Given the description of an element on the screen output the (x, y) to click on. 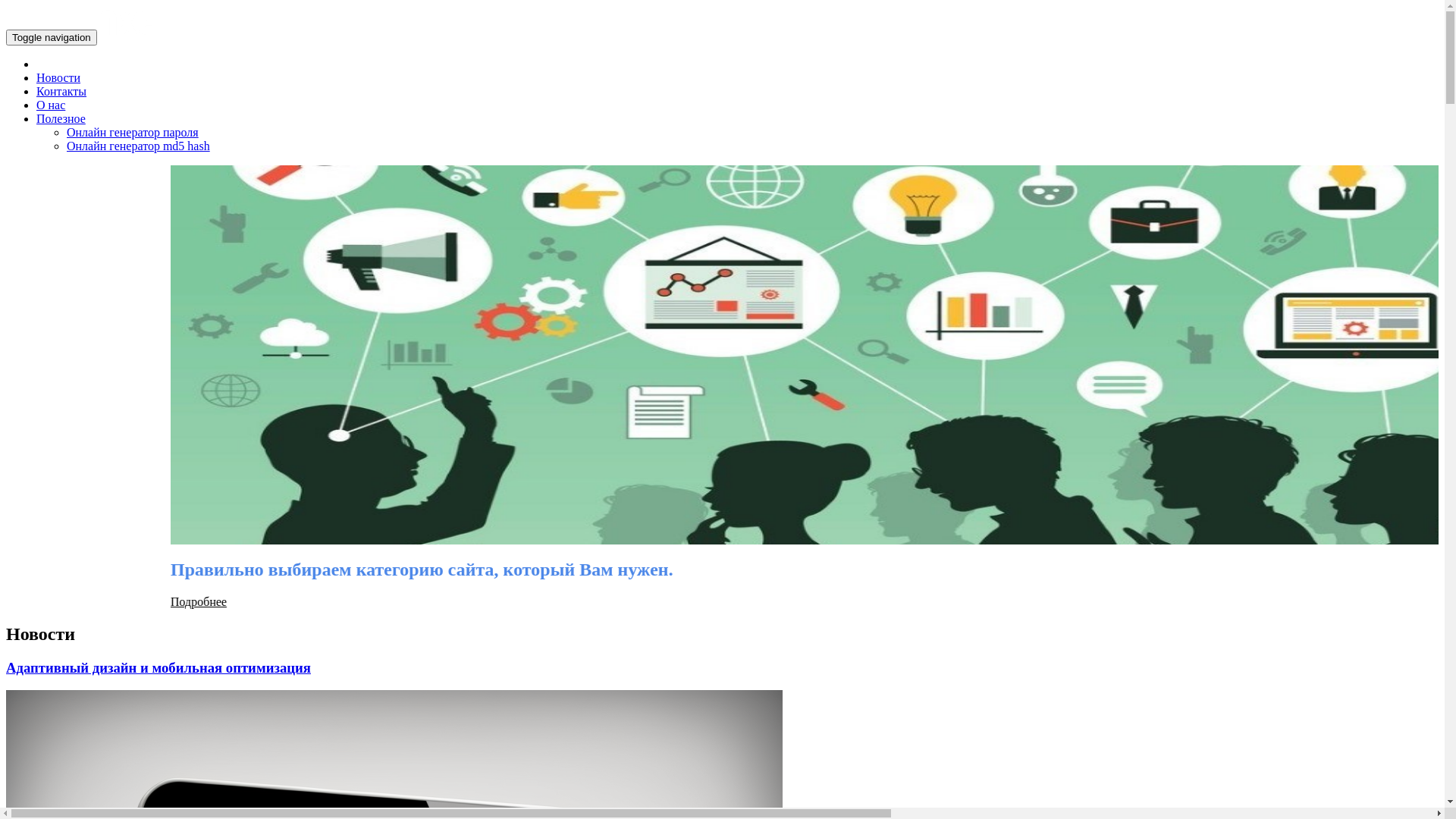
Toggle navigation Element type: text (51, 37)
